Given the description of an element on the screen output the (x, y) to click on. 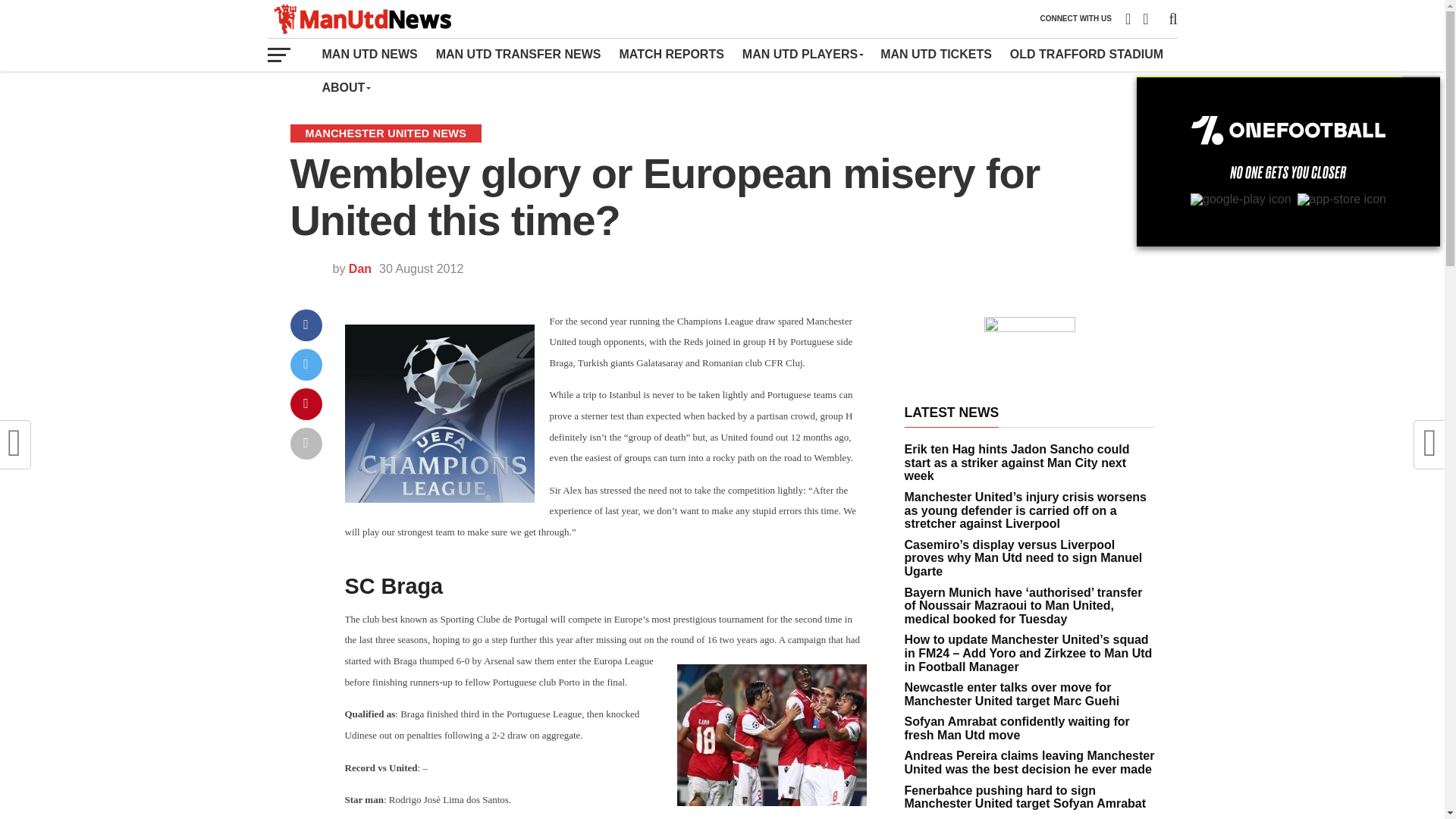
Posts by Dan (360, 268)
MAN UTD PLAYERS (801, 54)
MAN UTD NEWS (369, 54)
ABOUT (345, 87)
MAN UTD TICKETS (935, 54)
MAN UTD TRANSFER NEWS (518, 54)
braga (771, 734)
MATCH REPORTS (671, 54)
cl logo (438, 413)
Dan (360, 268)
OLD TRAFFORD STADIUM (1086, 54)
